Given the description of an element on the screen output the (x, y) to click on. 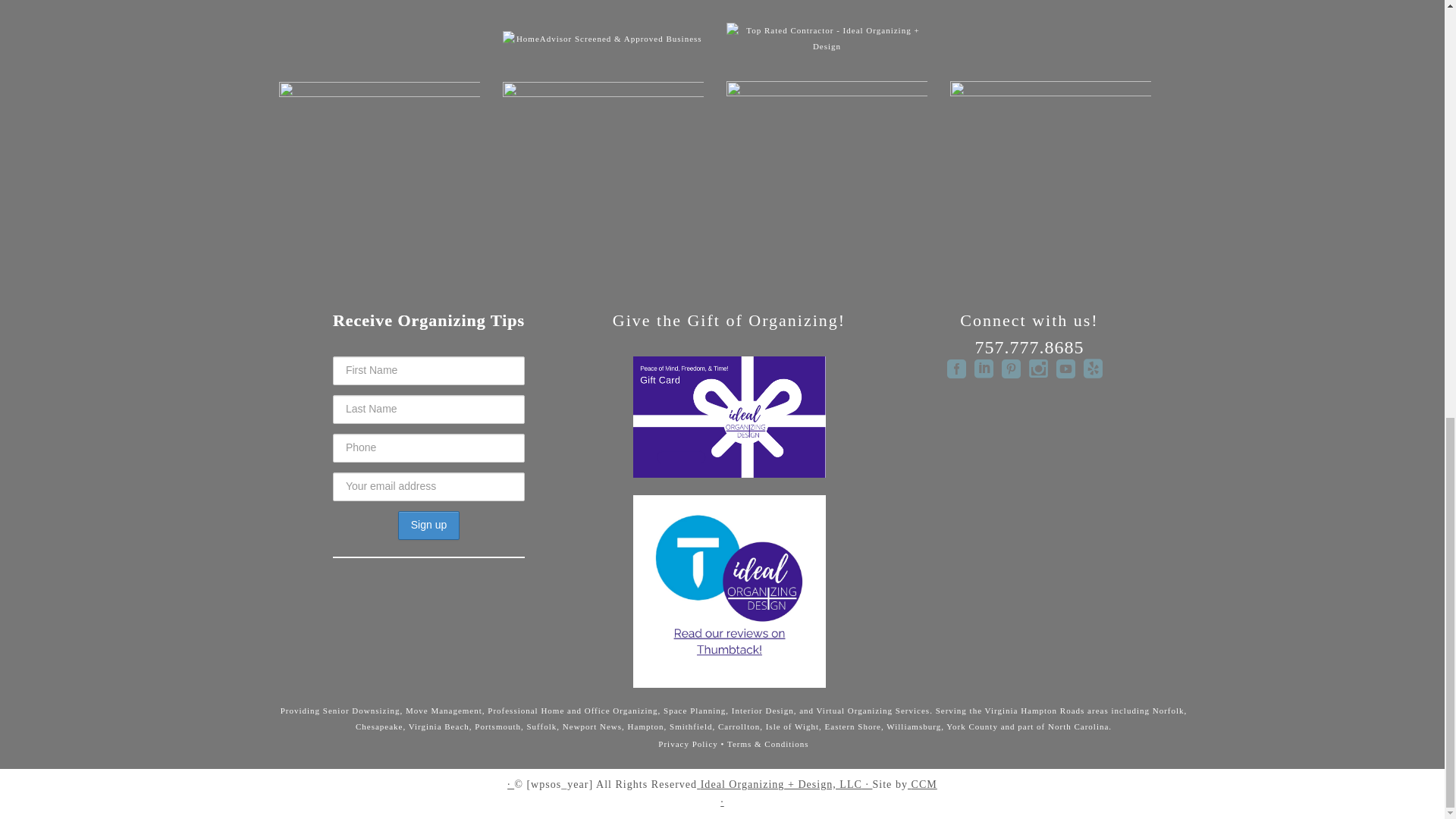
fmo (1050, 169)
thumb (826, 169)
nasmm (602, 169)
Sign up (428, 525)
Privacy Policy (687, 743)
Sign up (428, 525)
CCM (924, 784)
napo (379, 169)
